Given the description of an element on the screen output the (x, y) to click on. 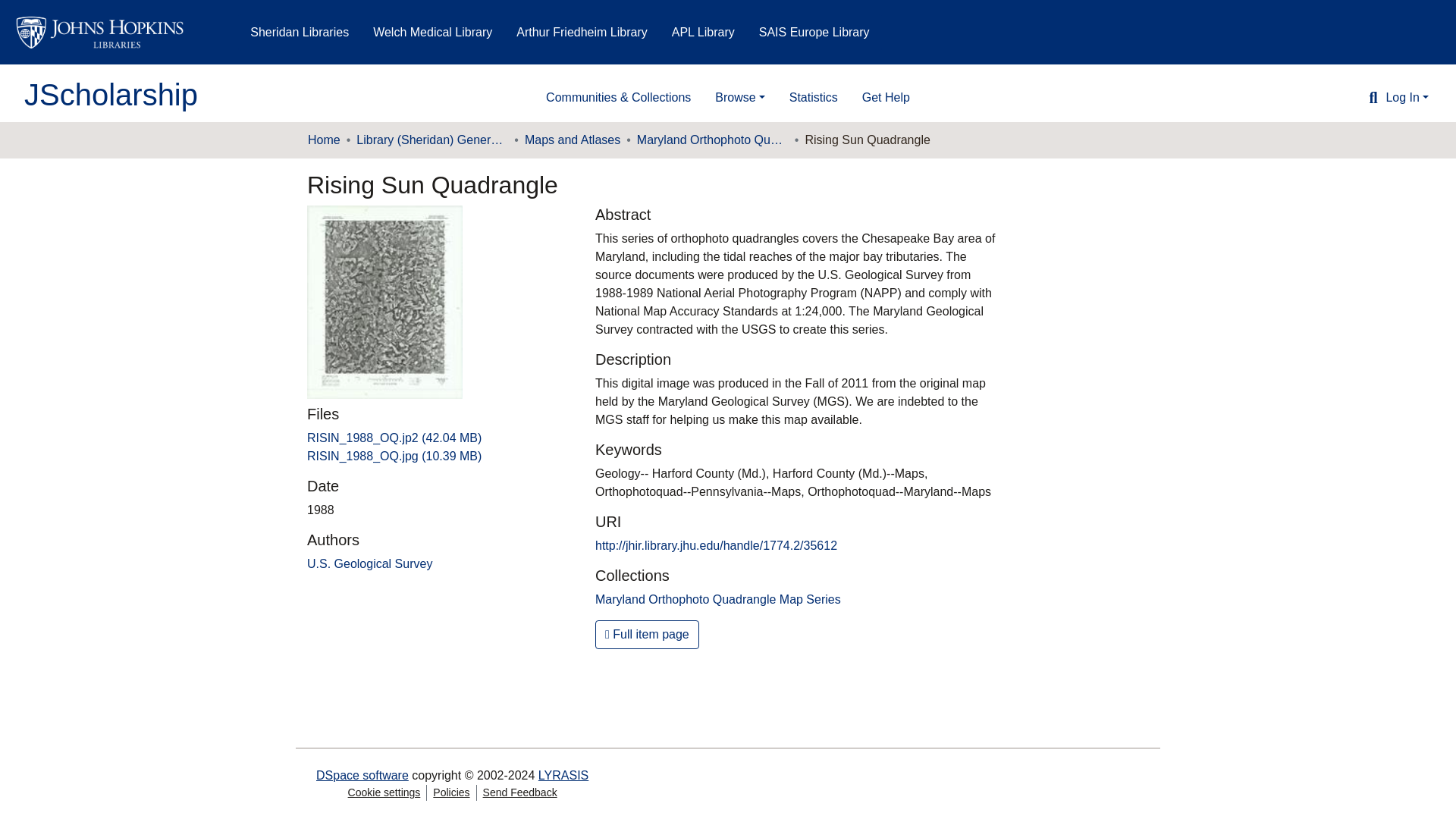
DSpace software (362, 775)
U.S. Geological Survey (369, 563)
Maryland Orthophoto Quadrangle Map Series (713, 140)
Browse (739, 97)
Cookie settings (384, 792)
Maryland Orthophoto Quadrangle Map Series (718, 599)
Statistics (813, 97)
APL Library (703, 31)
Download bitstream (394, 437)
Arthur Friedheim Library (581, 31)
